Given the description of an element on the screen output the (x, y) to click on. 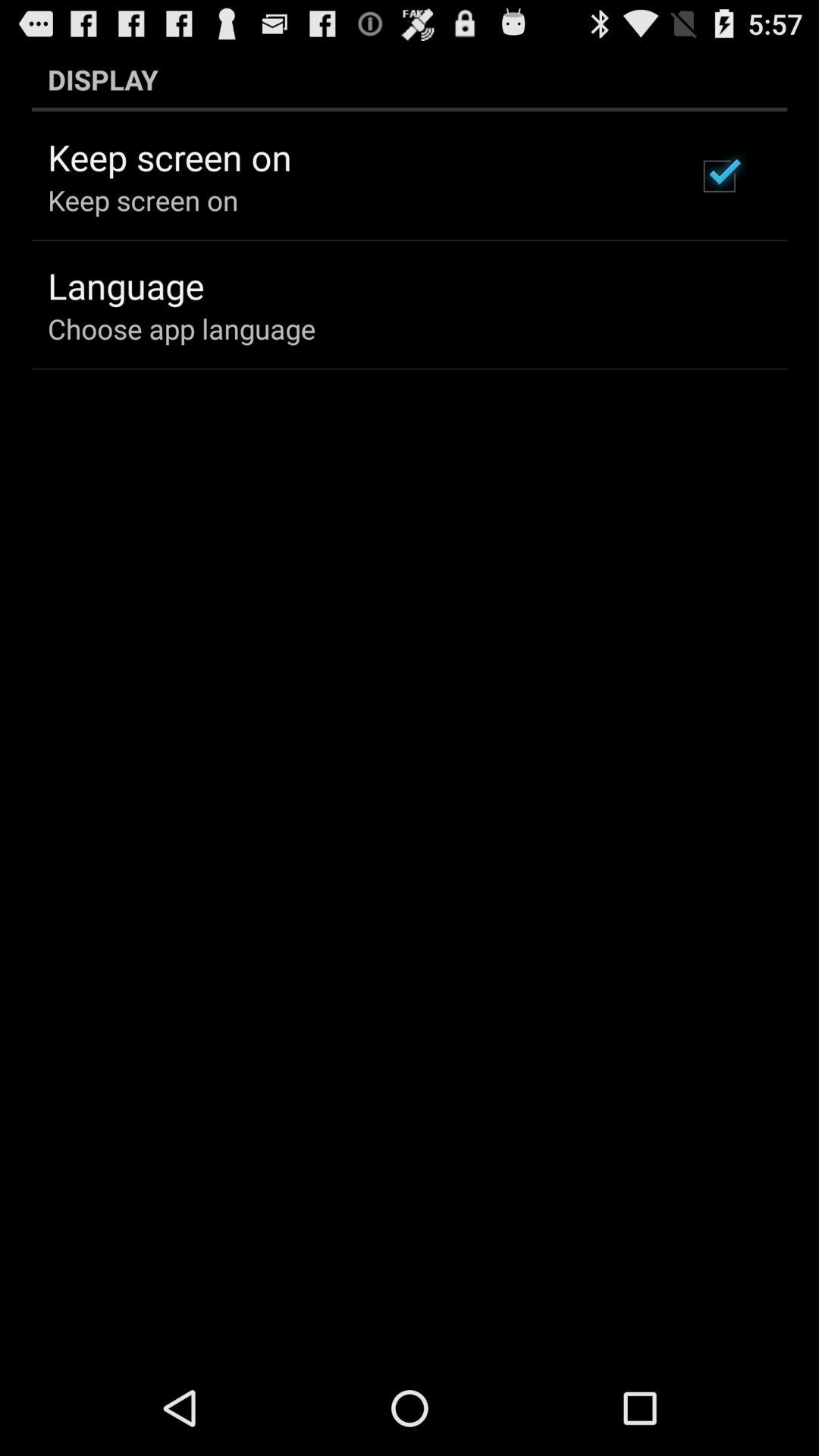
launch item below the language app (181, 328)
